Given the description of an element on the screen output the (x, y) to click on. 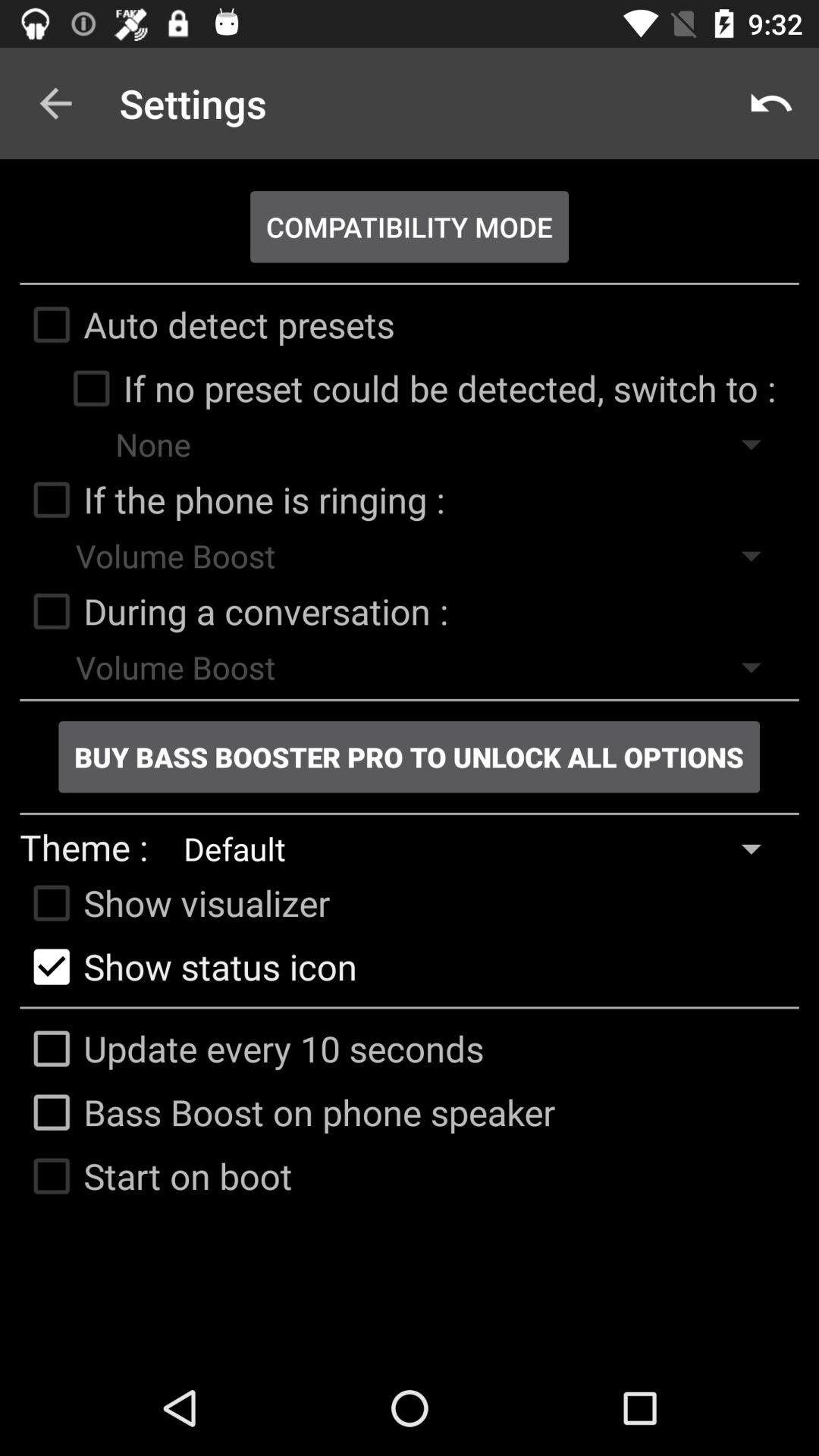
swipe until the if no preset (417, 388)
